Given the description of an element on the screen output the (x, y) to click on. 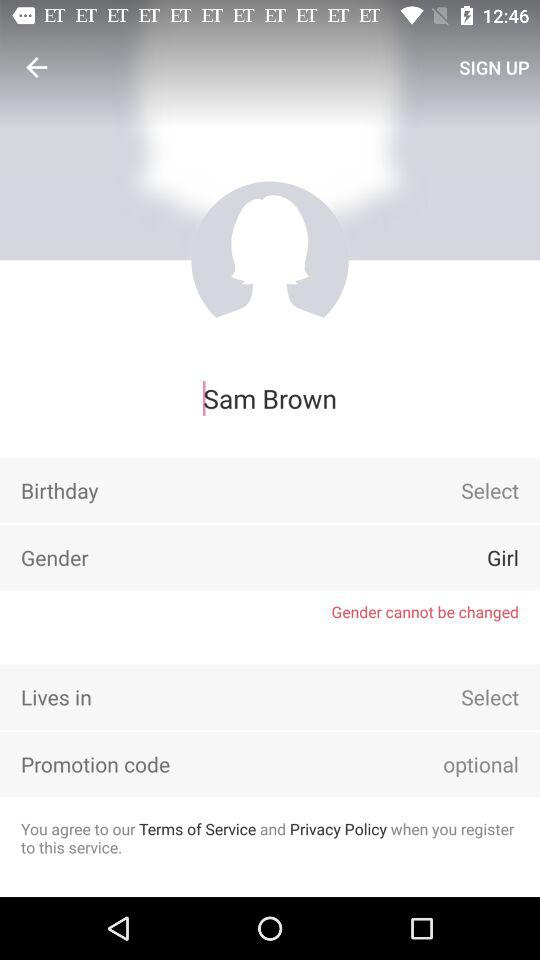
add photo (269, 260)
